Given the description of an element on the screen output the (x, y) to click on. 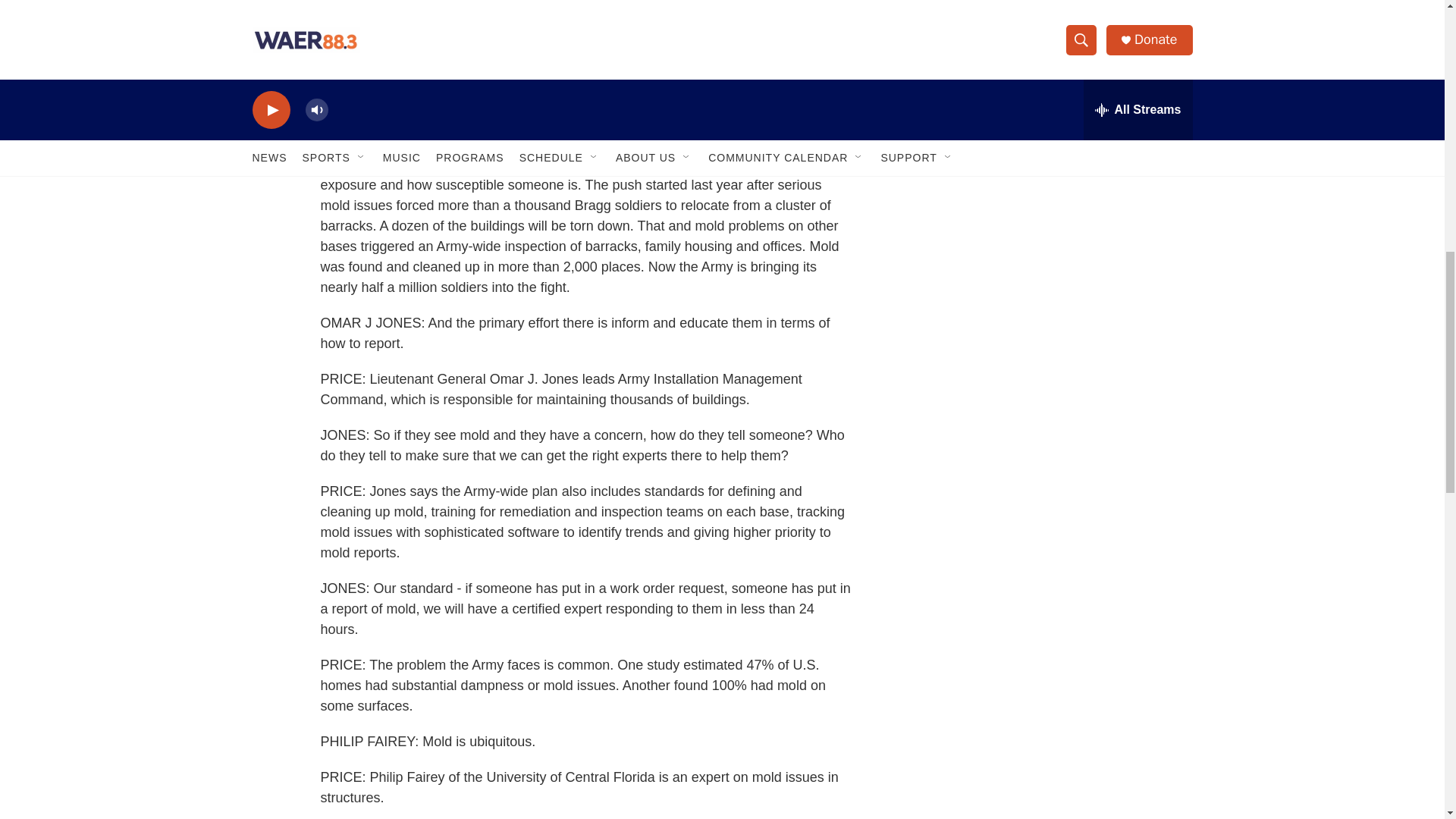
3rd party ad content (1062, 16)
